Given the description of an element on the screen output the (x, y) to click on. 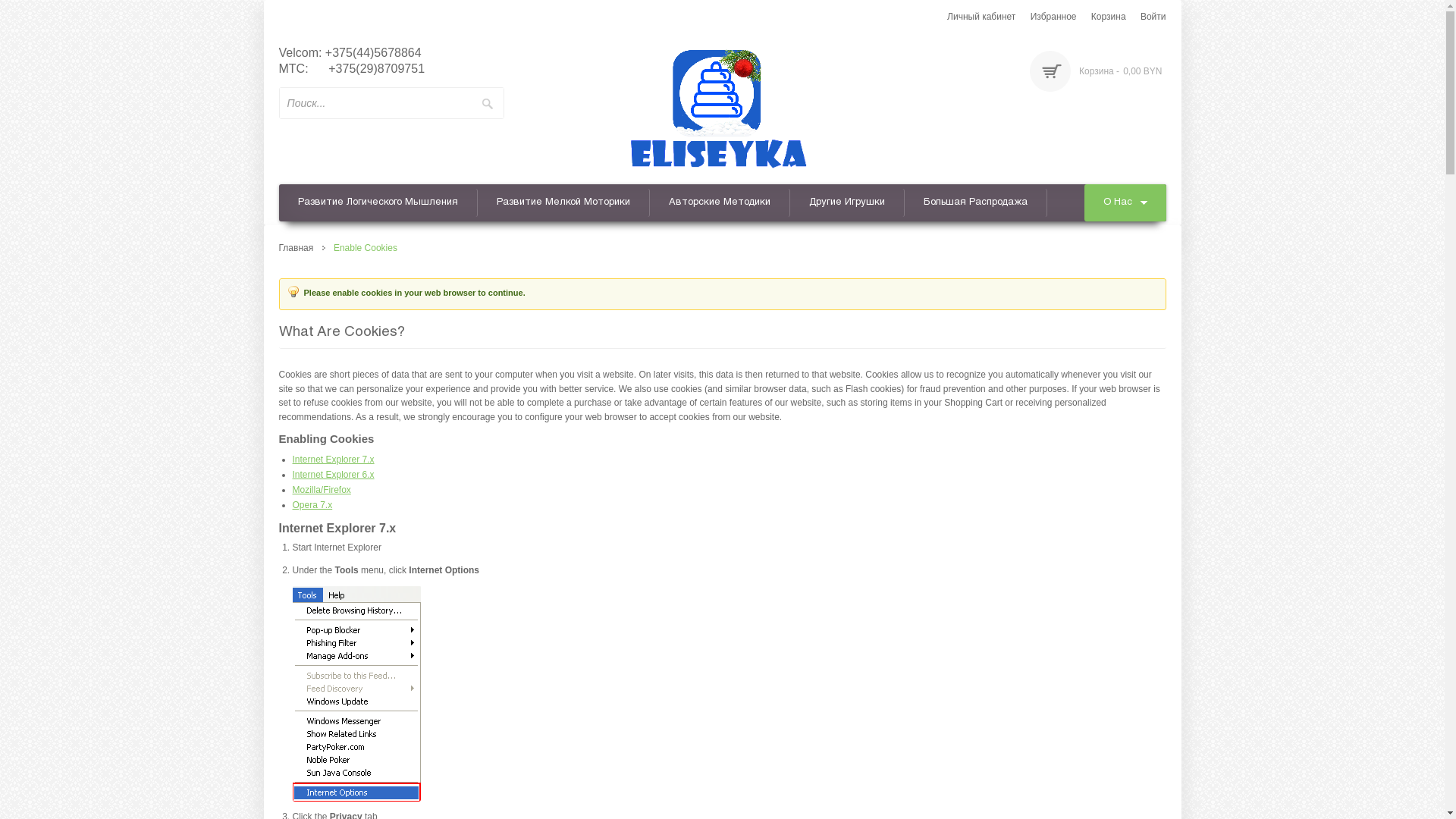
Mozilla/Firefox Element type: text (321, 489)
Internet Explorer 6.x Element type: text (333, 474)
Internet Explorer 7.x Element type: text (333, 459)
Opera 7.x Element type: text (312, 504)
